Given the description of an element on the screen output the (x, y) to click on. 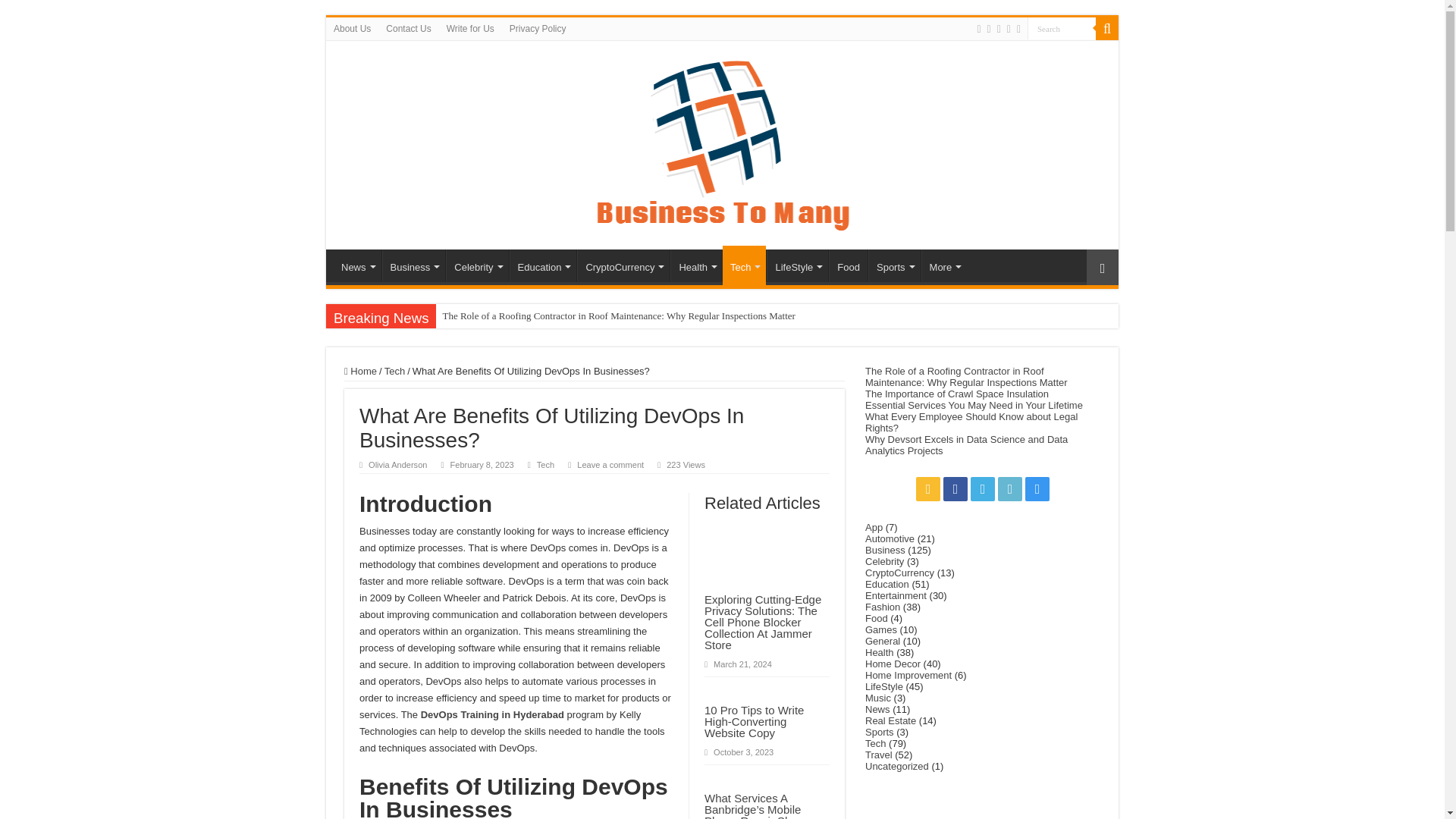
About Us (352, 28)
Search (1061, 28)
Write for Us (470, 28)
Search (1061, 28)
Contact Us (408, 28)
Search (1061, 28)
Search (1107, 28)
Celebrity (476, 265)
Privacy Policy (537, 28)
News (357, 265)
